Given the description of an element on the screen output the (x, y) to click on. 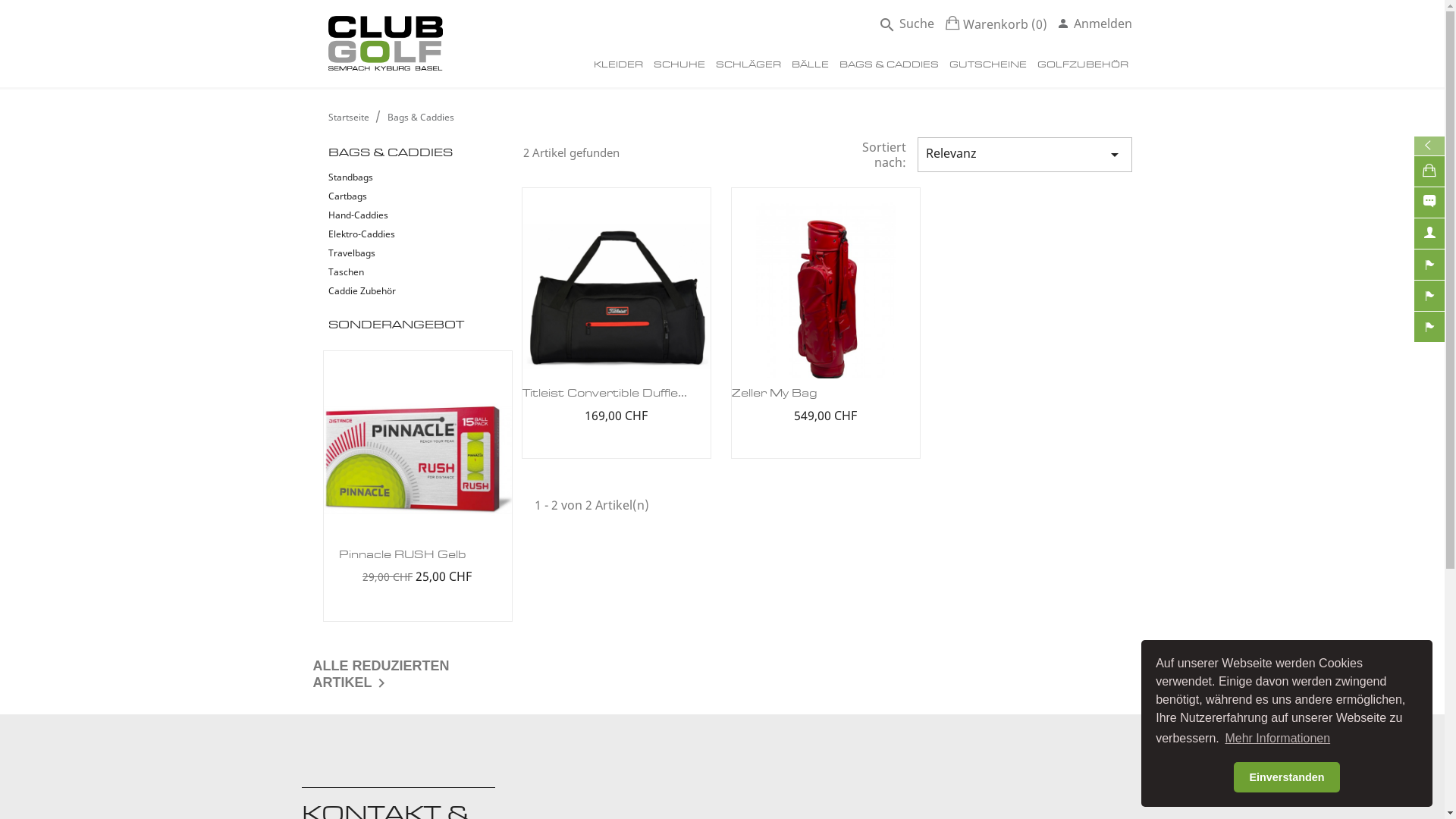
Bags & Caddies Element type: text (419, 116)
Standbags Element type: text (406, 178)
Hand-Caddies Element type: text (406, 216)
Zeller My Bag Element type: text (774, 394)
Einverstanden Element type: text (1286, 777)
Startseite Element type: text (348, 116)
BAGS & CADDIES Element type: text (389, 153)
Pinnacle RUSH Gelb Element type: text (401, 555)
Elektro-Caddies Element type: text (406, 234)
Anmelden Element type: text (1095, 23)
KLEIDER Element type: text (617, 67)
Taschen Element type: text (406, 272)
Titleist Convertible Duffle... Element type: text (604, 394)
SCHUHE Element type: text (678, 67)
Mehr Informationen Element type: text (1277, 738)
Cartbags Element type: text (406, 196)
BAGS & CADDIES Element type: text (888, 67)
GUTSCHEINE Element type: text (986, 67)
Travelbags Element type: text (406, 254)
